Given the description of an element on the screen output the (x, y) to click on. 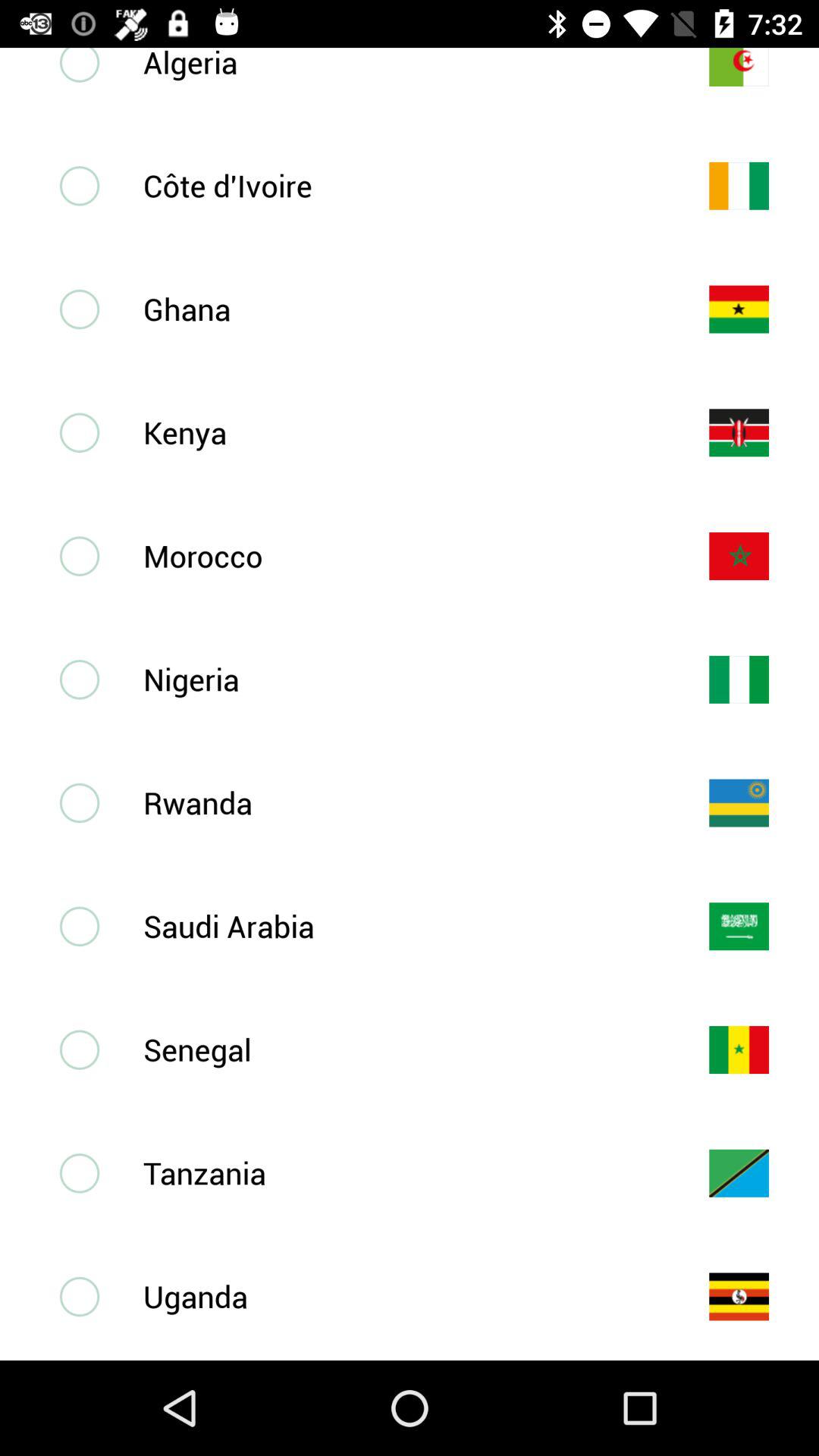
open senegal icon (401, 1049)
